Given the description of an element on the screen output the (x, y) to click on. 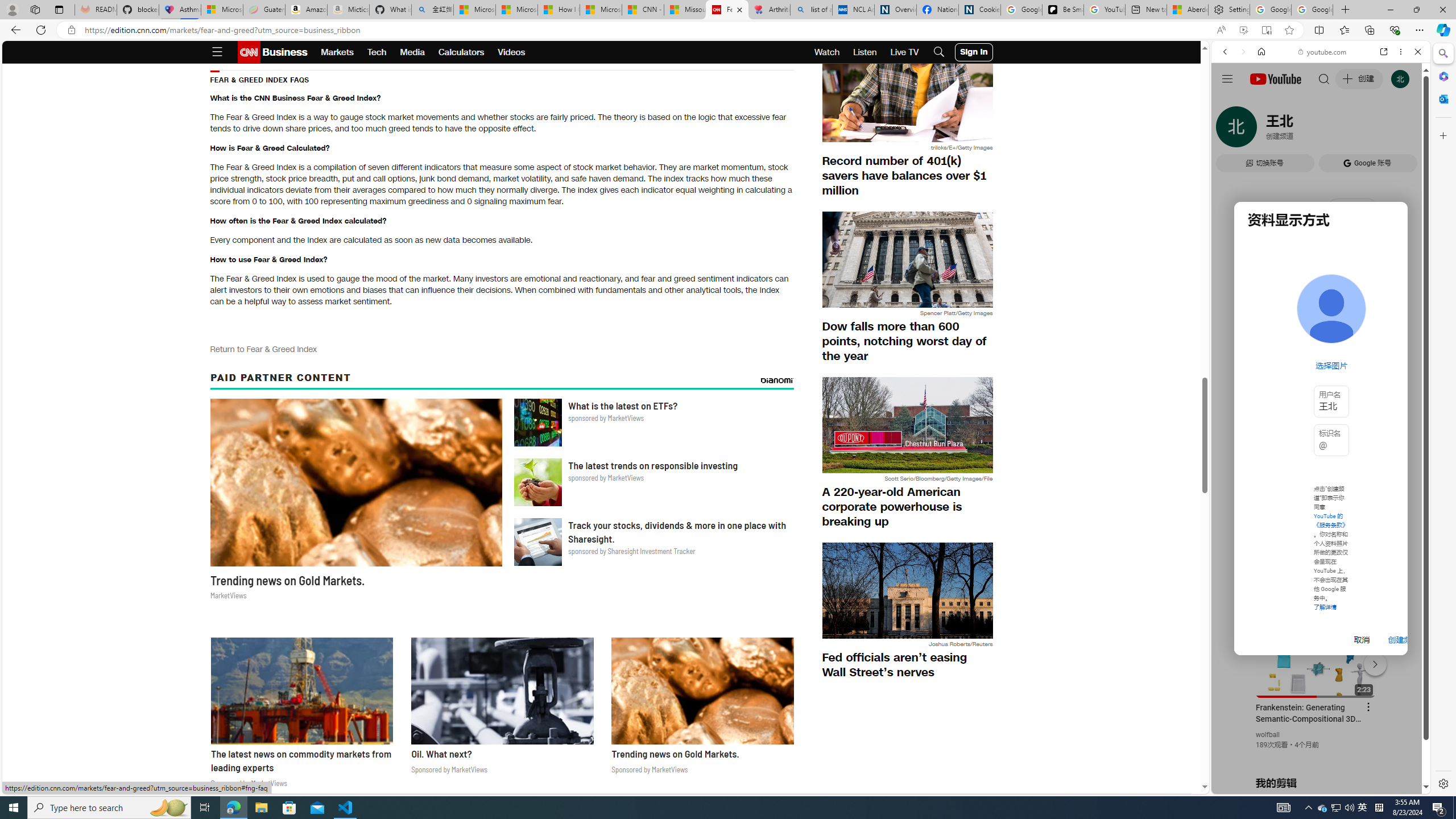
Search Filter, WEB (1230, 129)
Close Customize pane (1442, 135)
IMAGES (1262, 130)
Personal Profile (12, 9)
Record number of 401(k) savers have balances over $1 million (906, 175)
you (1315, 755)
